Given the description of an element on the screen output the (x, y) to click on. 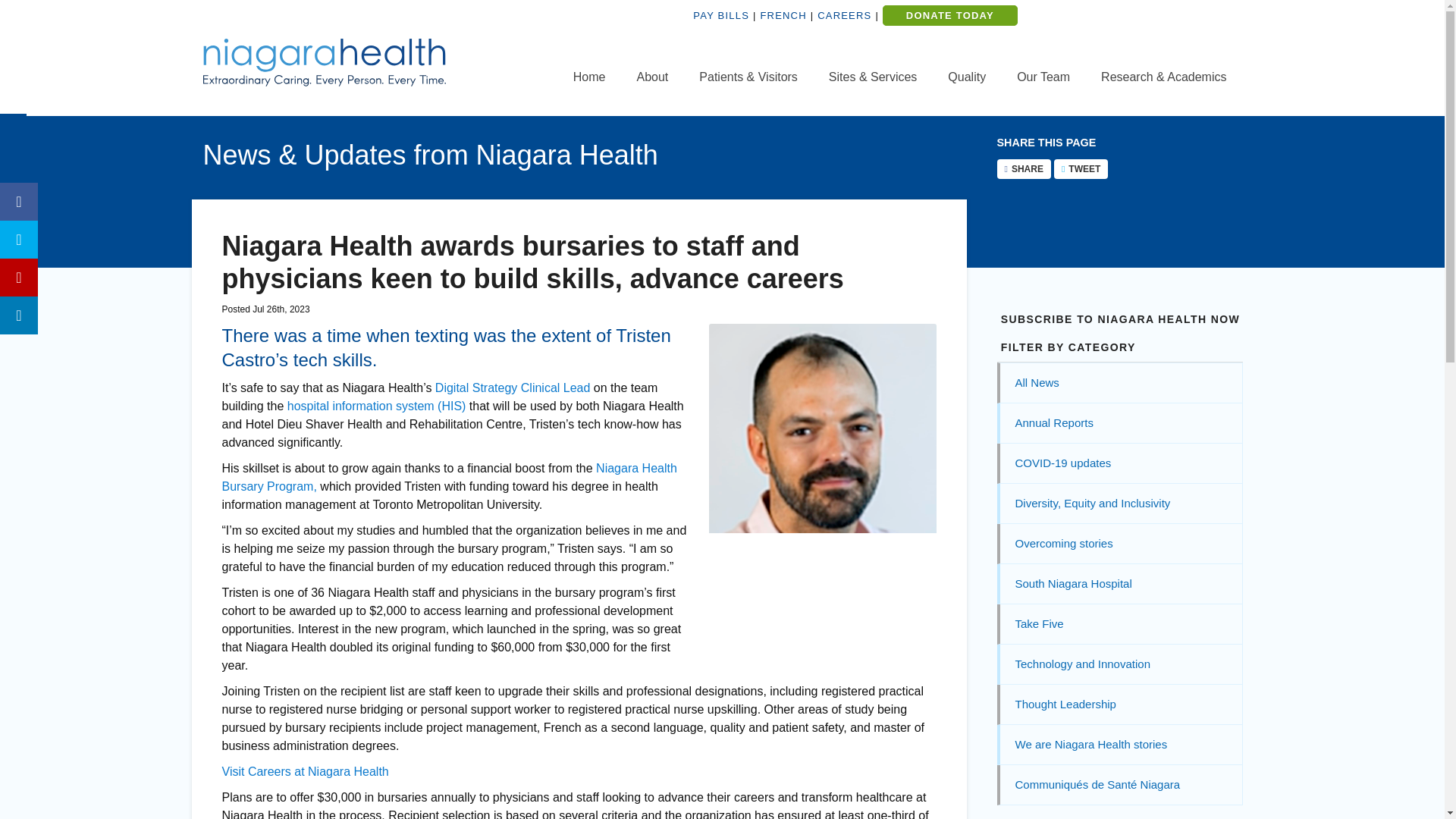
Donate today - Support Niagara Health Foundation (949, 14)
About (652, 77)
About Niagara Health System (652, 77)
back to home (589, 77)
PAY BILLS (721, 15)
CONTACT (1179, 26)
DONATE TODAY (949, 14)
Pay Bills (721, 15)
Home (589, 77)
FRENCH (783, 15)
Careers at Niagara Health (843, 15)
French Translation at Niagara Health (783, 15)
CAREERS (843, 15)
